Given the description of an element on the screen output the (x, y) to click on. 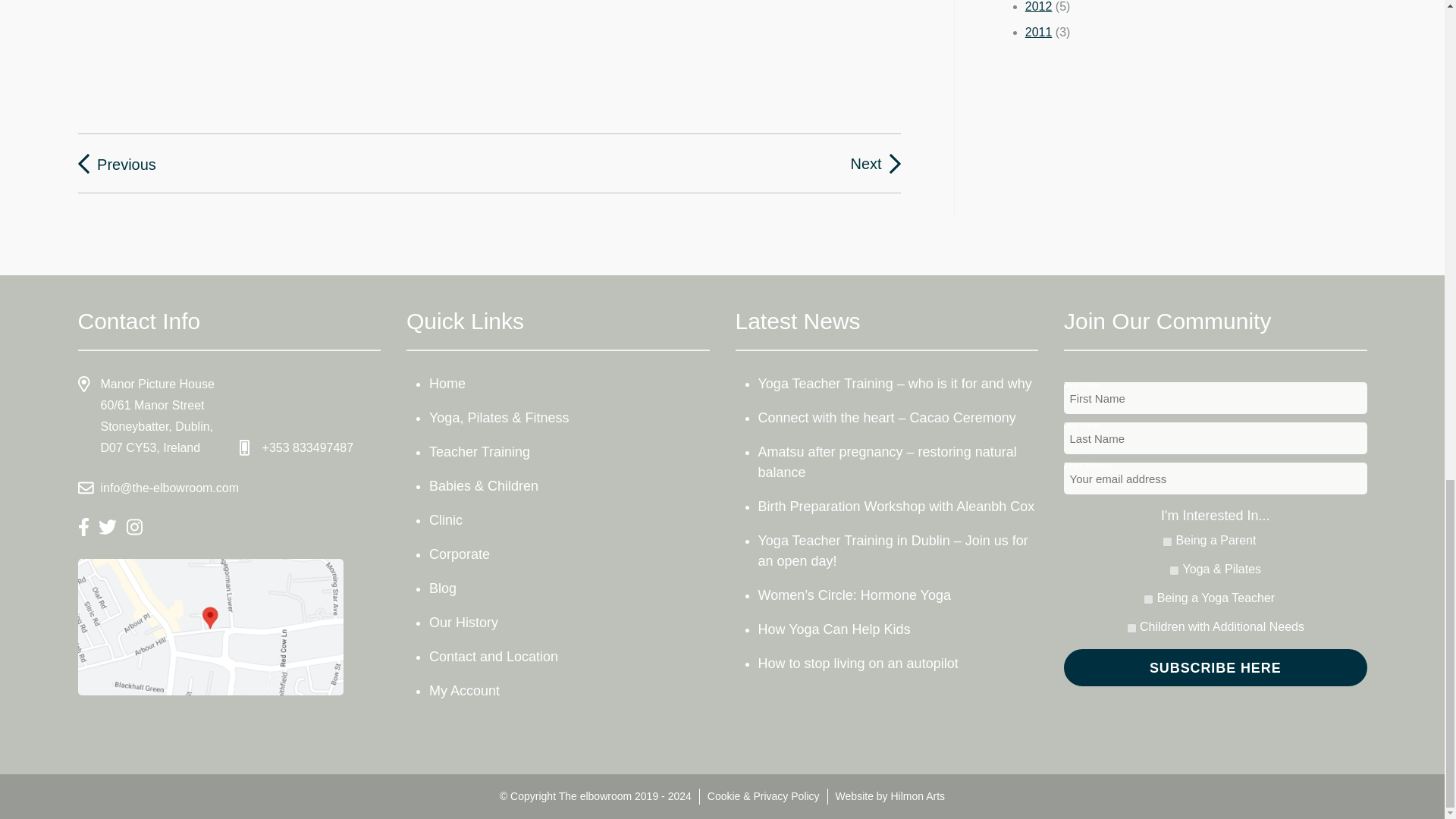
Yoga (1174, 570)
Children (1131, 628)
Parent (1166, 542)
Previous (116, 164)
Teacher (1147, 599)
